Given the description of an element on the screen output the (x, y) to click on. 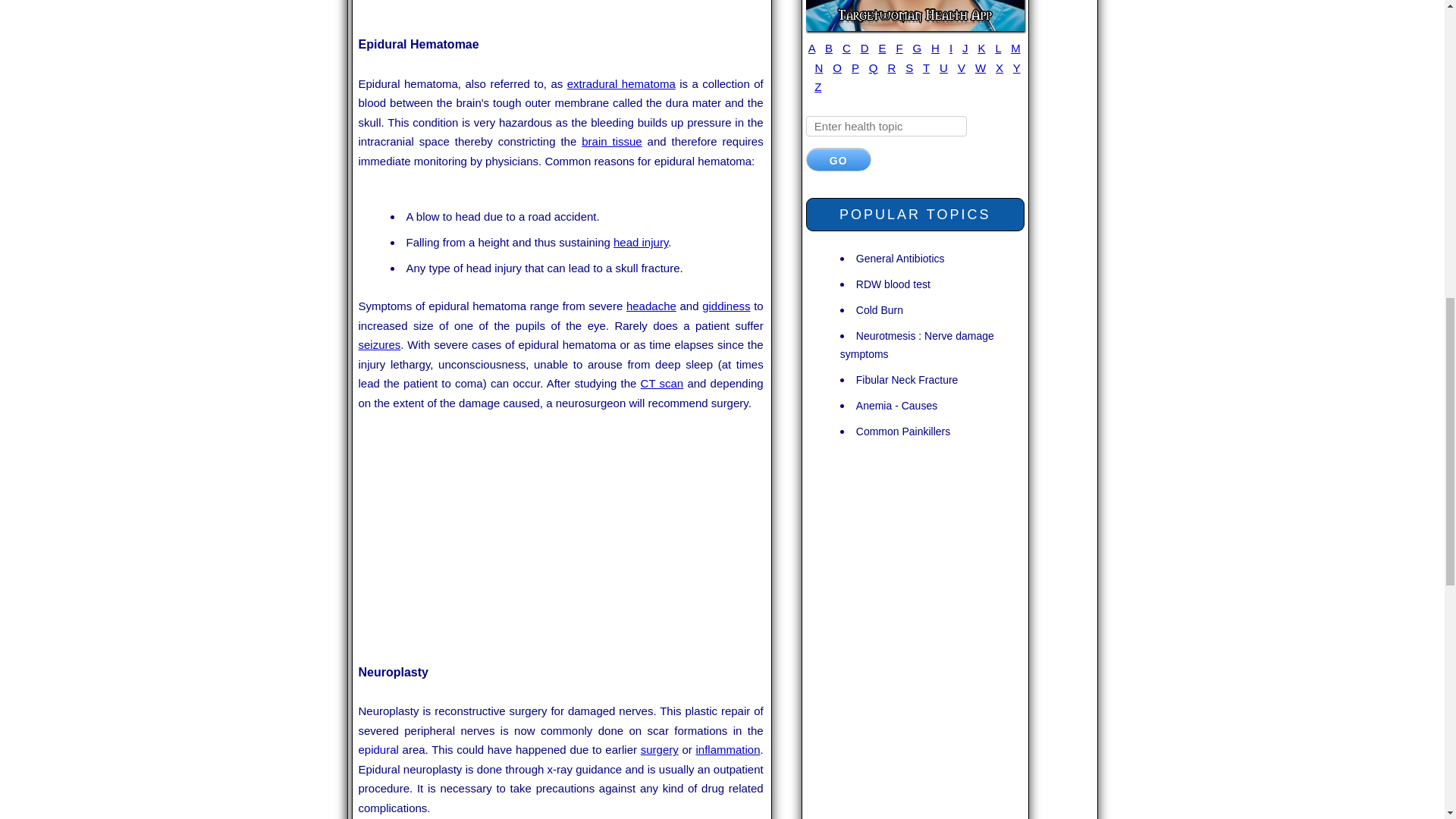
epidural (377, 748)
General Antibiotics (900, 257)
inflammation (727, 748)
brain tissue (611, 141)
surgery (659, 748)
surgery (659, 748)
headache (651, 305)
Neurotmesis : Nerve damage symptoms (917, 344)
seizures (379, 344)
Advertisement (561, 537)
